Given the description of an element on the screen output the (x, y) to click on. 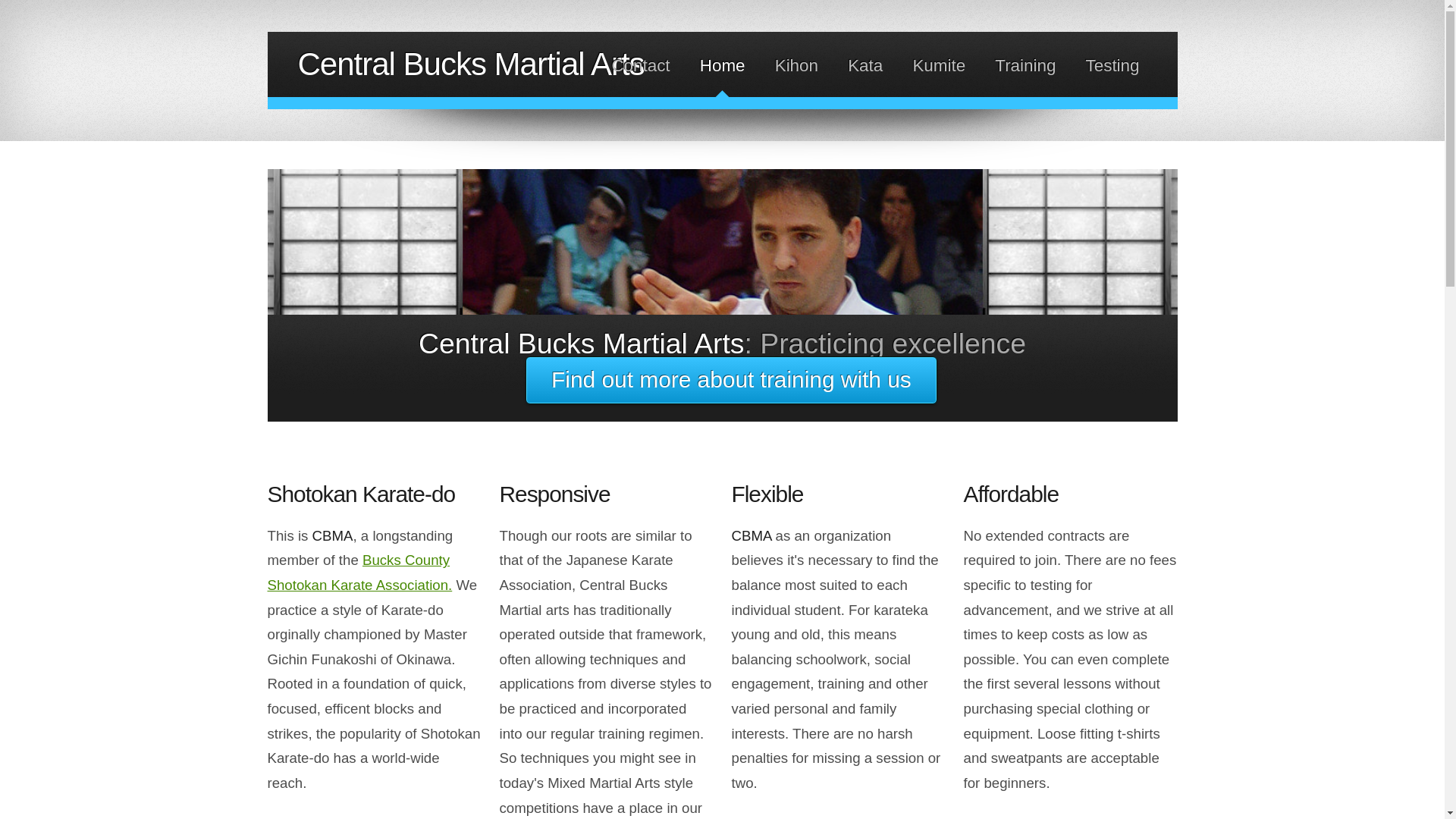
Training (1024, 65)
Bucks County Shotokan Karate Association. (358, 572)
Testing (1113, 65)
Kata (864, 65)
Home (722, 65)
Kumite (938, 65)
Contact (640, 65)
Find out more about training with us (730, 380)
Kihon (796, 65)
